Given the description of an element on the screen output the (x, y) to click on. 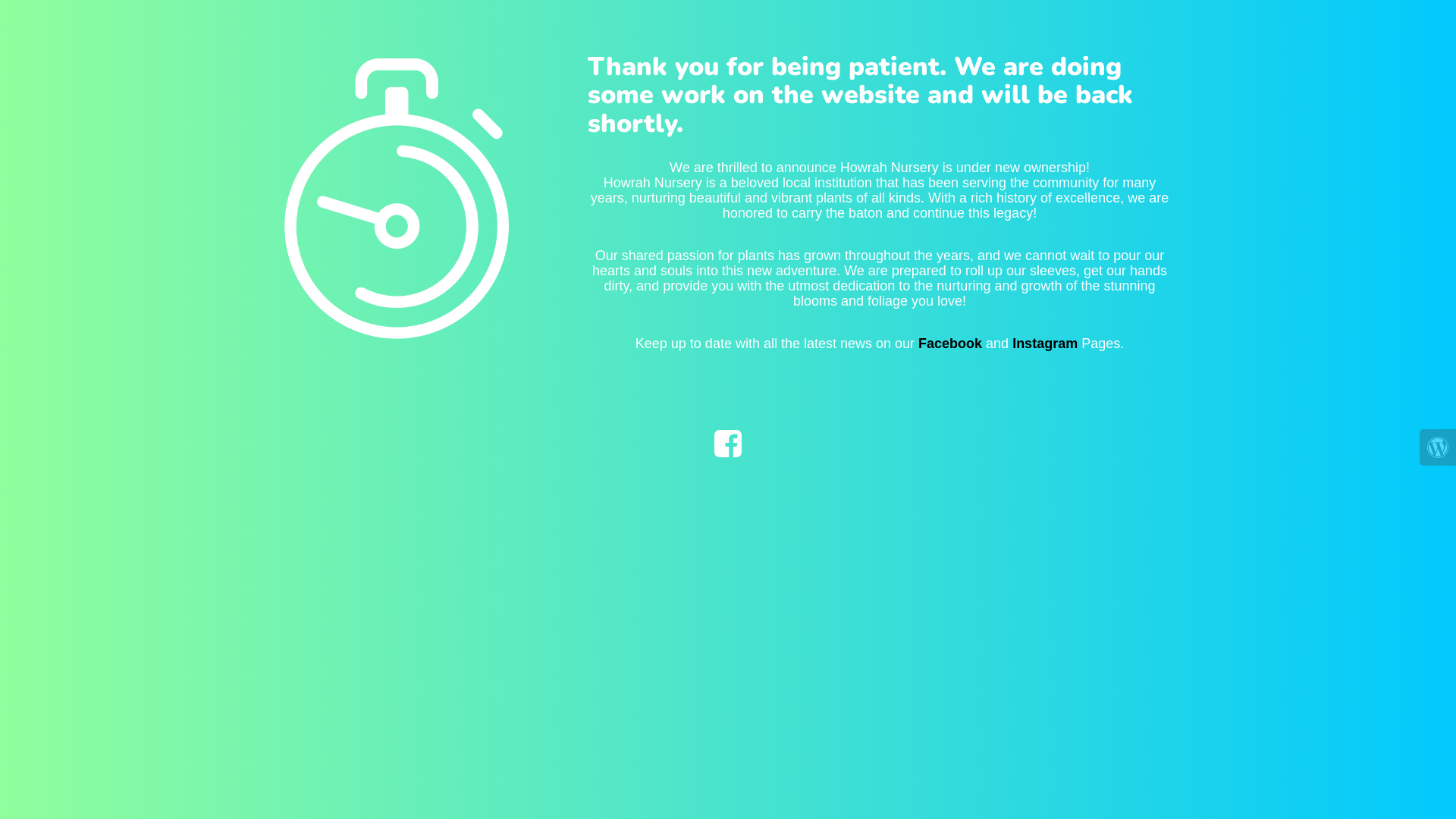
Tick tock, tick tock, ... Element type: hover (356, 187)
Tick tock, tick tock, ... Element type: hover (396, 198)
Instagram Element type: text (1044, 343)
Facebook Element type: text (950, 343)
